Given the description of an element on the screen output the (x, y) to click on. 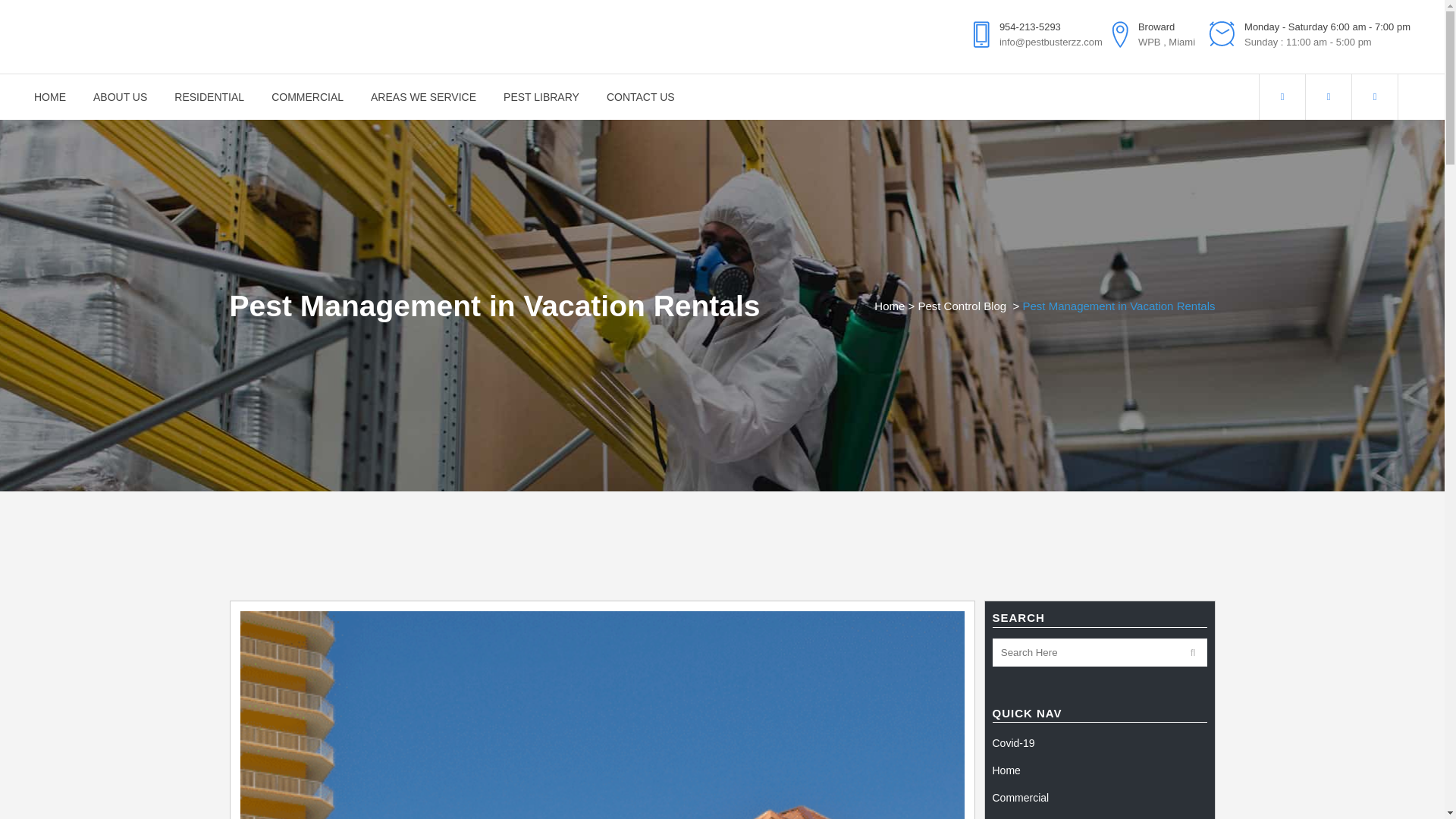
HOME (56, 96)
RESIDENTIAL (208, 96)
AREAS WE SERVICE (422, 96)
ABOUT US (120, 96)
COMMERCIAL (306, 96)
